Given the description of an element on the screen output the (x, y) to click on. 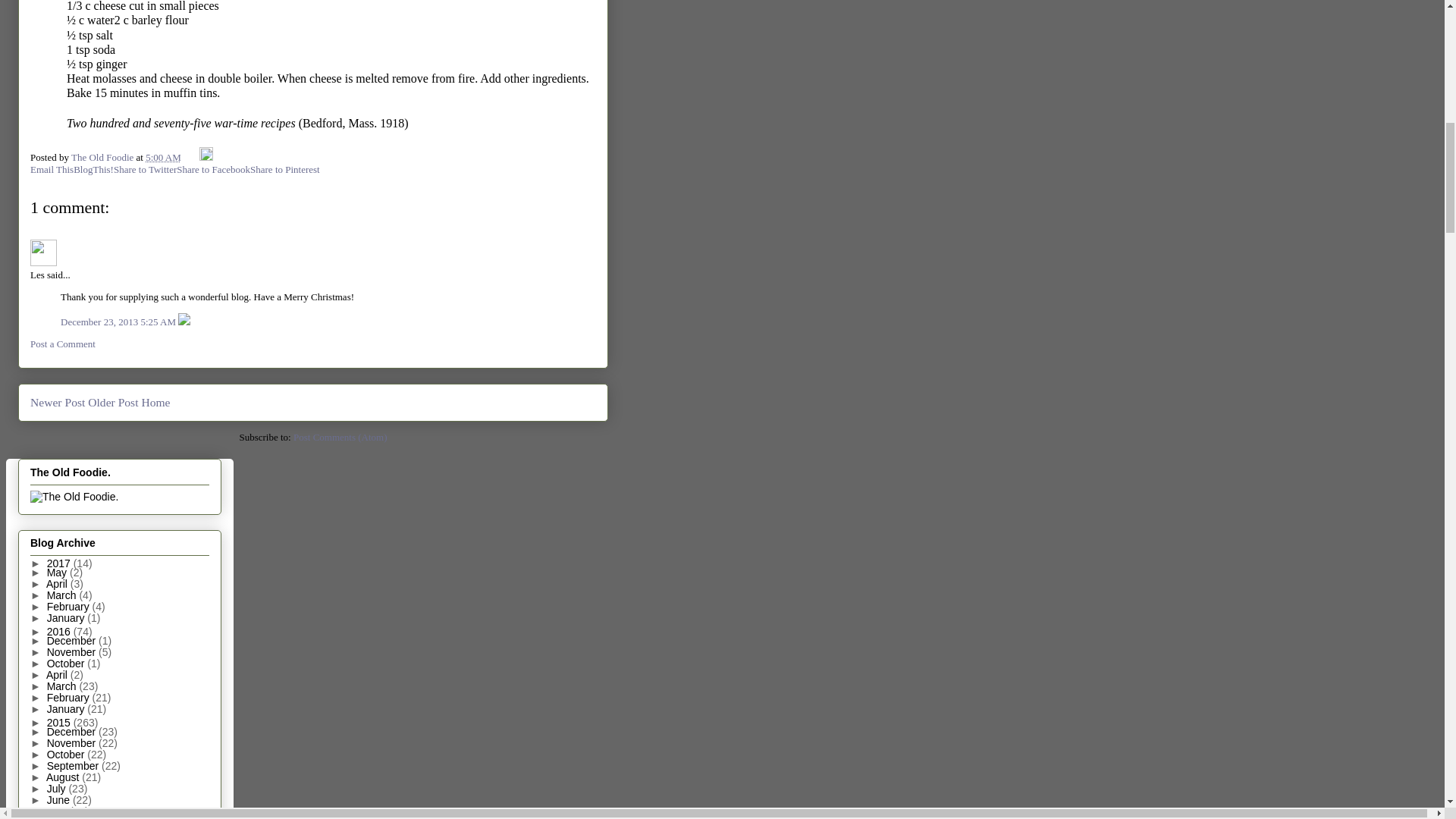
Newer Post (57, 401)
Les (43, 252)
Share to Facebook (213, 169)
The Old Foodie (103, 156)
Older Post (112, 401)
Share to Pinterest (285, 169)
comment permalink (119, 321)
2017 (60, 563)
Delete Comment (183, 321)
Edit Post (205, 156)
January (66, 617)
BlogThis! (93, 169)
5:00 AM (162, 156)
Home (155, 401)
Share to Facebook (213, 169)
